Given the description of an element on the screen output the (x, y) to click on. 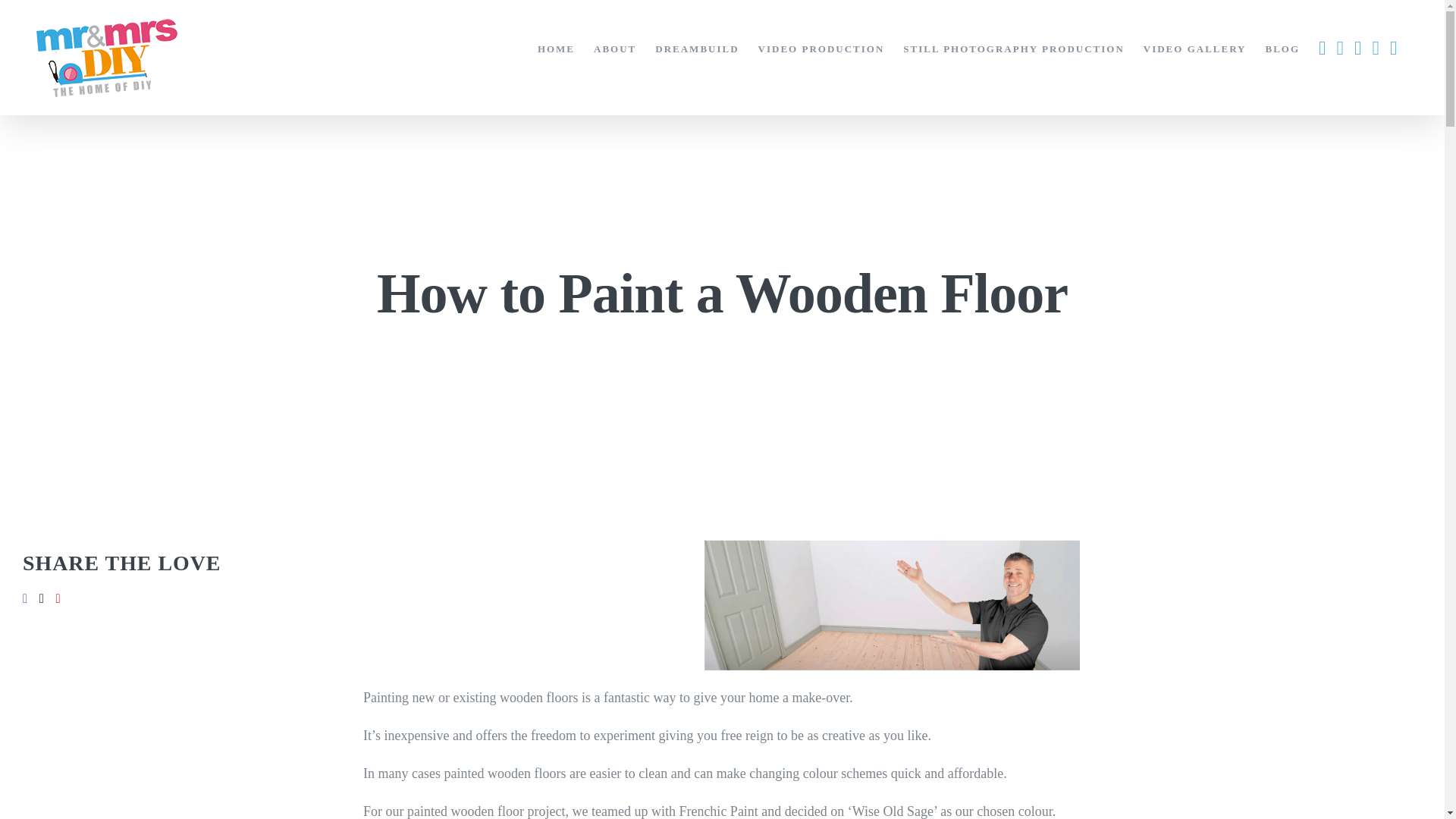
VIDEO PRODUCTION (821, 48)
VIDEO GALLERY (1194, 48)
STILL PHOTOGRAPHY PRODUCTION (1013, 48)
